Given the description of an element on the screen output the (x, y) to click on. 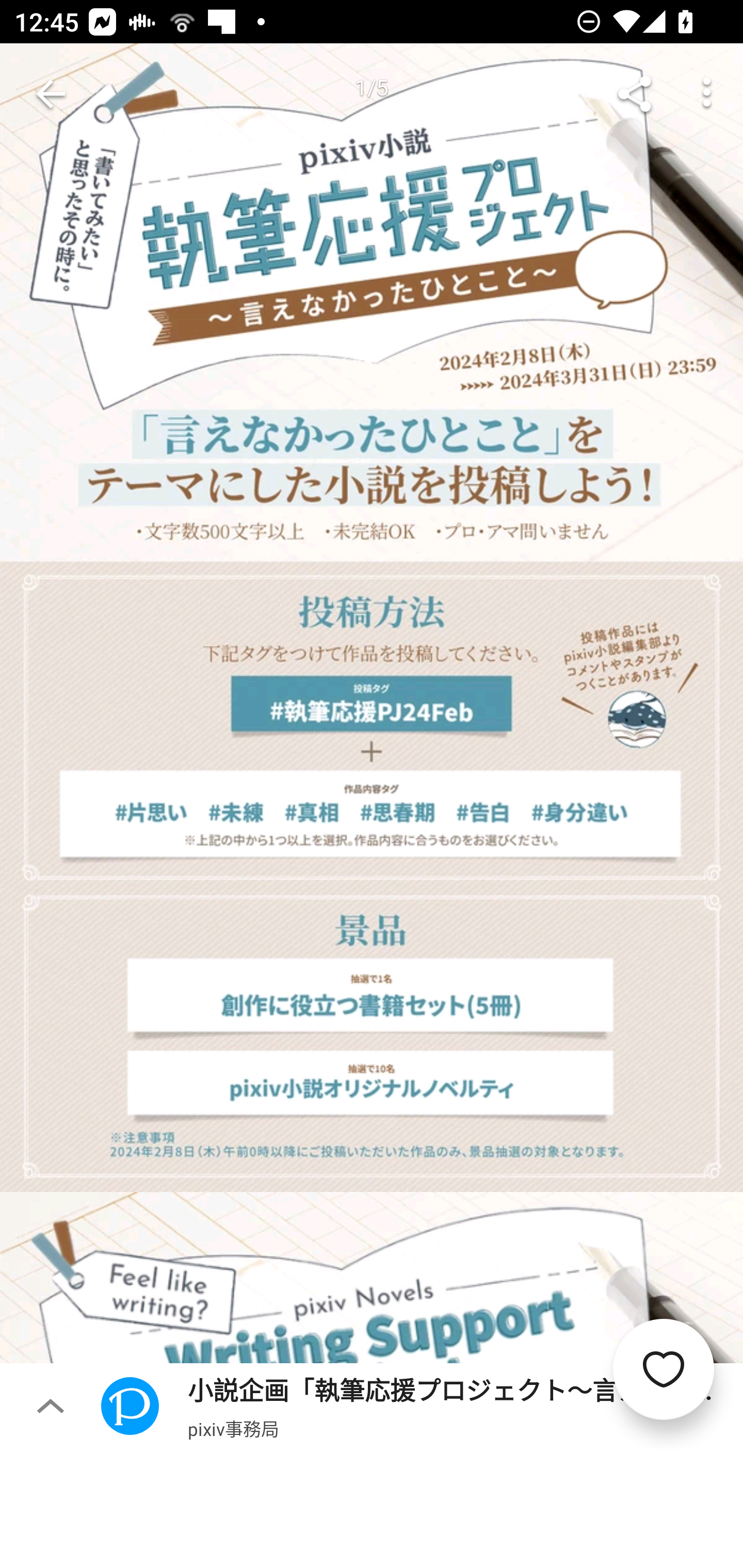
Share (634, 93)
More options (706, 93)
小説企画「執筆応援プロジェクト～言えなかったひとこと～」開催 pixiv事務局 (422, 1405)
pixiv事務局 (233, 1427)
